Given the description of an element on the screen output the (x, y) to click on. 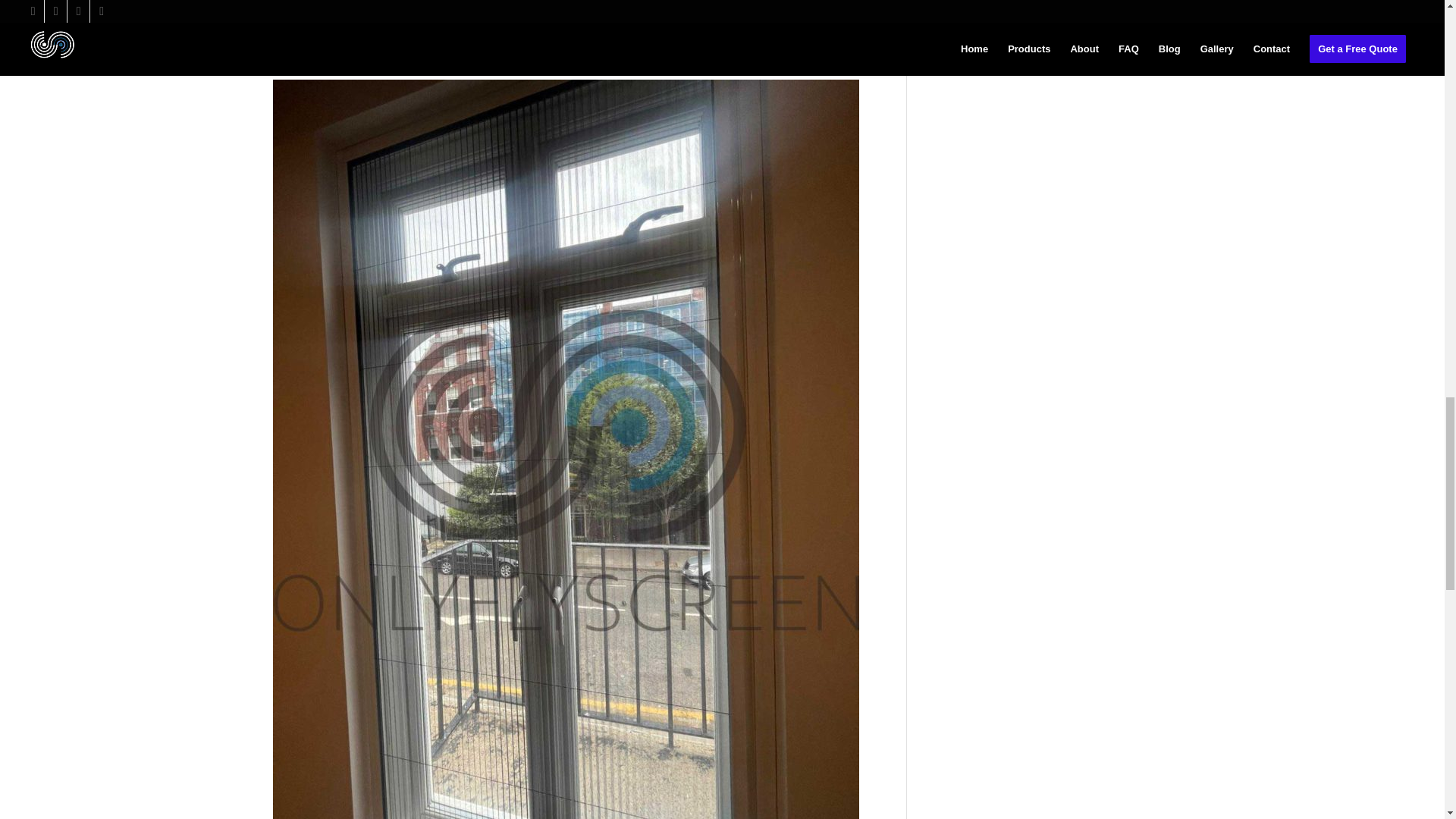
contact us (801, 20)
